Given the description of an element on the screen output the (x, y) to click on. 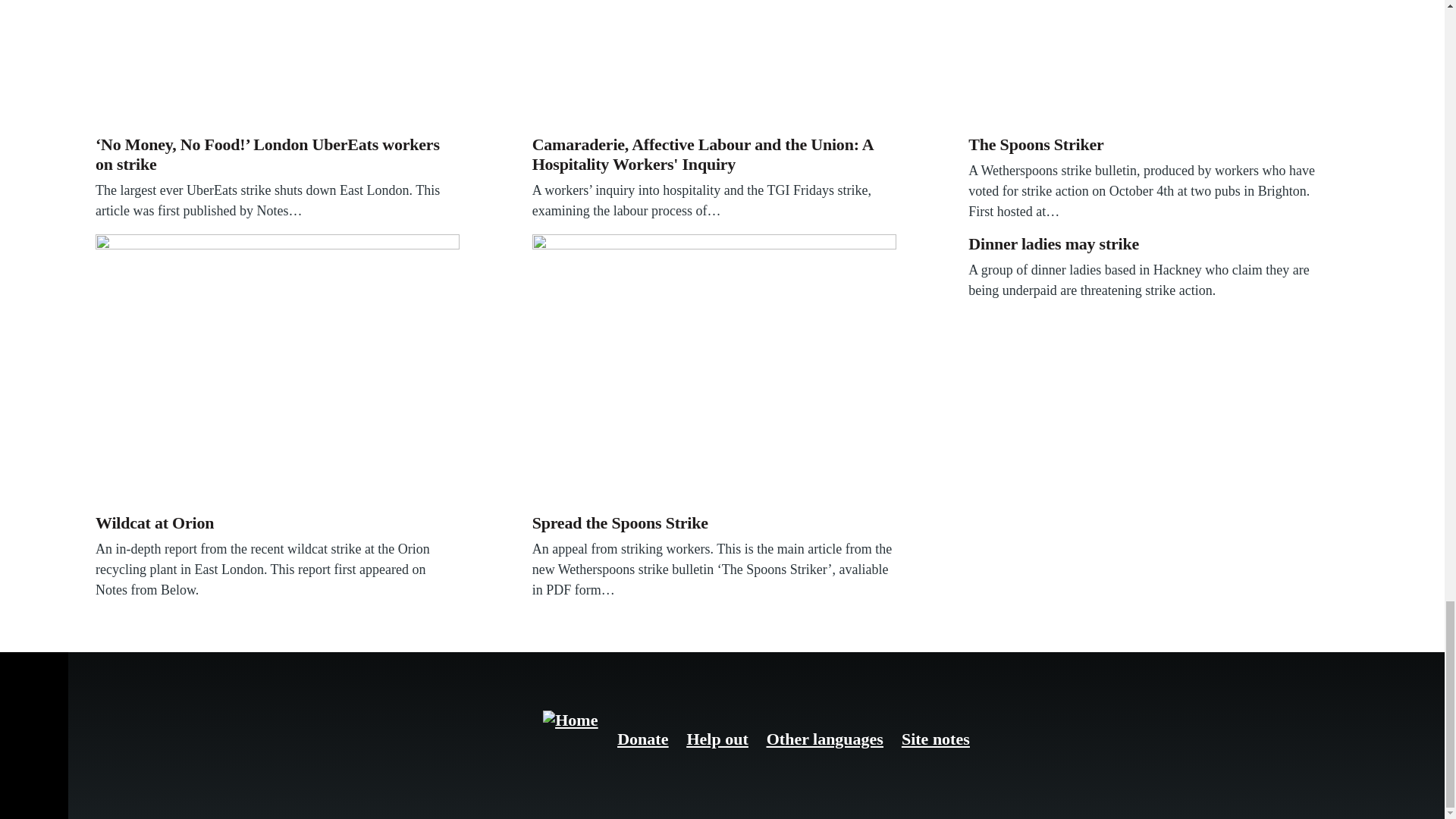
libcom content in languages other than English (825, 738)
Help out (716, 738)
Donate (642, 738)
